Given the description of an element on the screen output the (x, y) to click on. 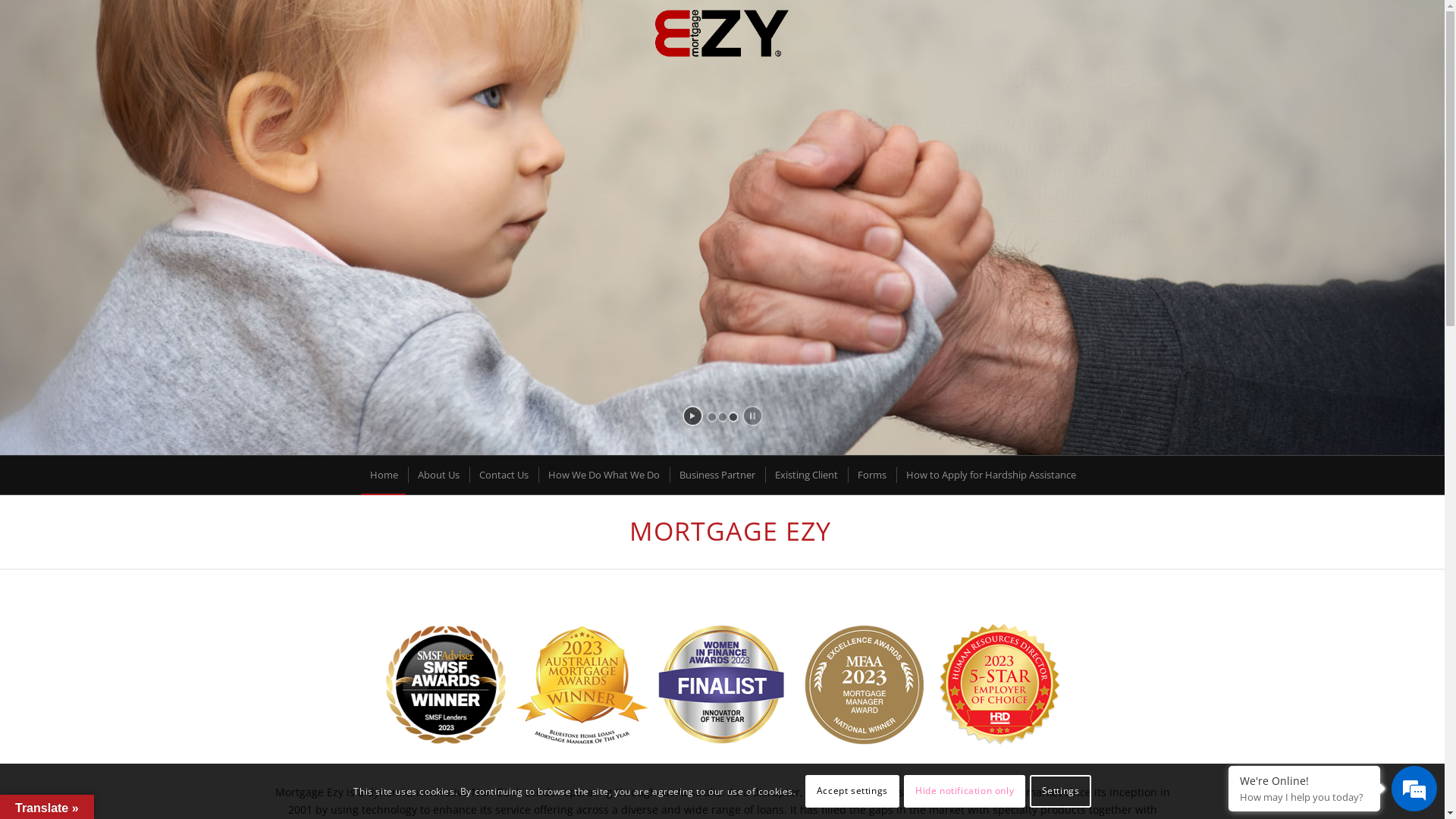
Home Element type: text (382, 475)
How We Do What We Do Element type: text (602, 475)
Business Partner Element type: text (715, 475)
Settings Element type: text (1059, 790)
How to Apply for Hardship Assistance Element type: text (989, 475)
Existing Client Element type: text (805, 475)
Contact Us Element type: text (502, 475)
Hide notification only Element type: text (964, 790)
Forms Element type: text (870, 475)
Submit Element type: text (544, 471)
About Us Element type: text (437, 475)
Accept settings Element type: text (852, 790)
